Given the description of an element on the screen output the (x, y) to click on. 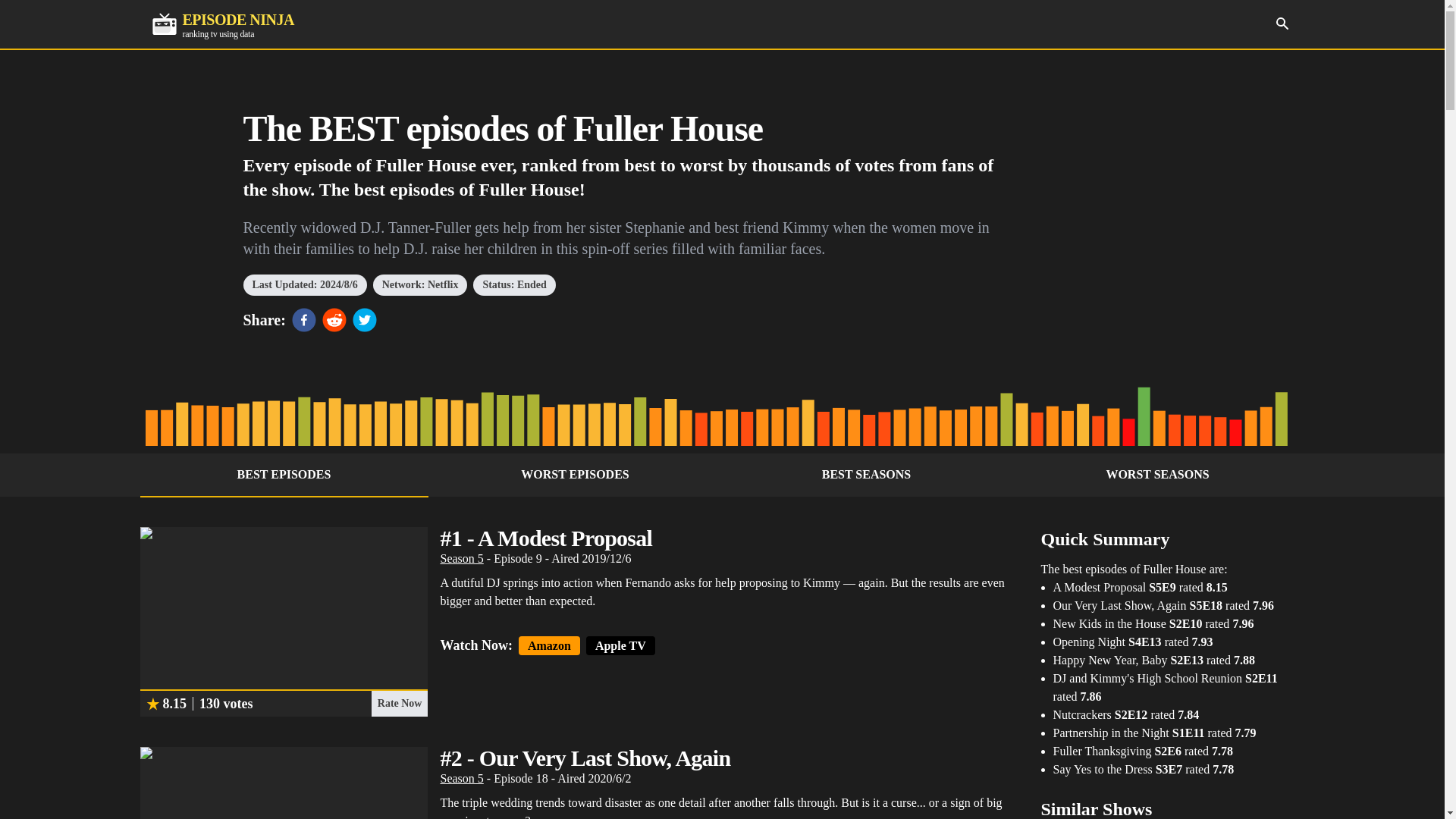
WORST EPISODES (574, 474)
Season 5 (461, 778)
Rate Now (399, 703)
BEST SEASONS (222, 24)
Search (866, 474)
Network: Netflix (1281, 22)
BEST EPISODES (419, 284)
Season 5 (283, 475)
Amazon (461, 558)
